Given the description of an element on the screen output the (x, y) to click on. 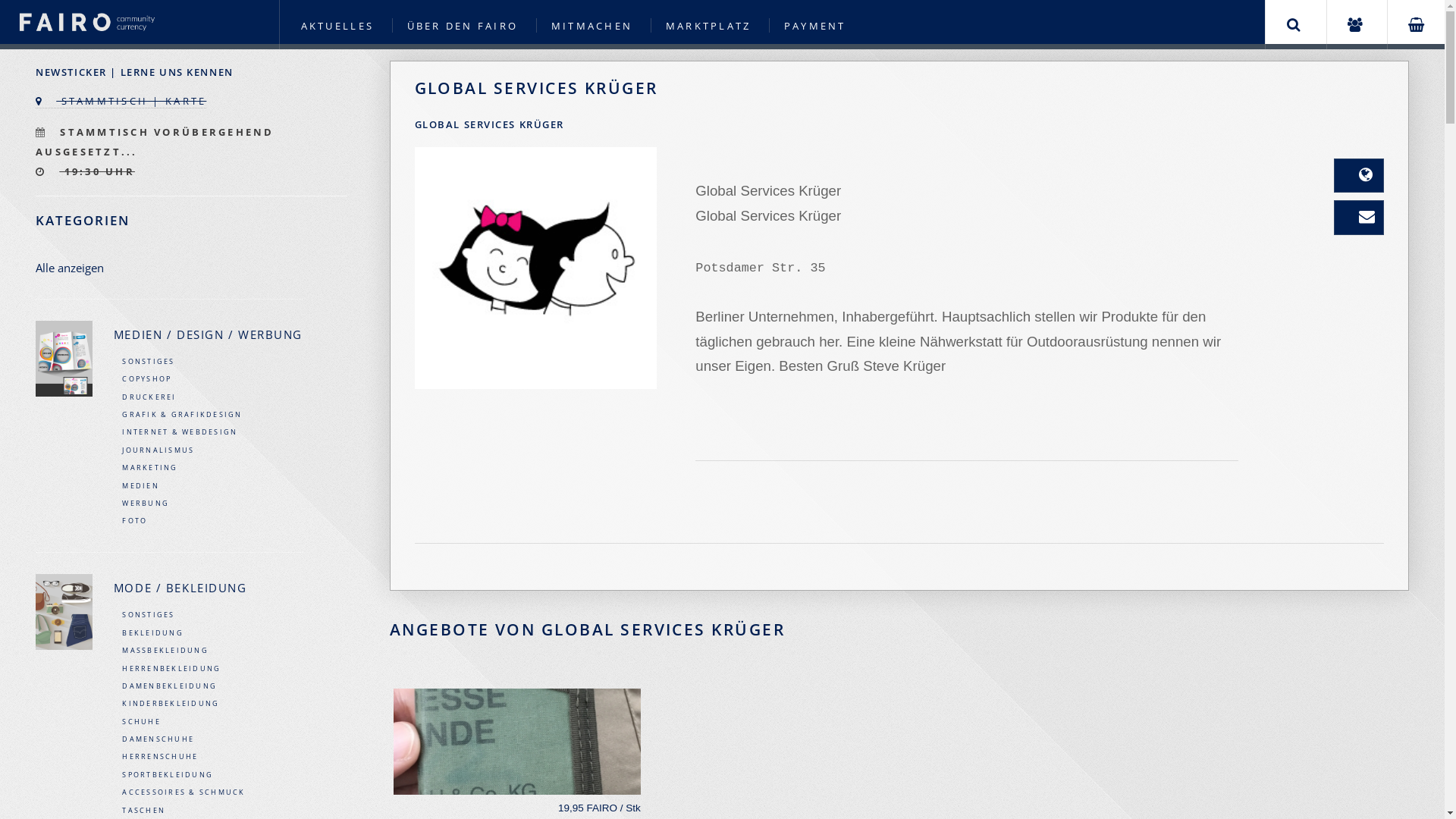
MITMACHEN Element type: text (591, 25)
MODE / BEKLEIDUNG Element type: text (207, 586)
MEDIEN / DESIGN / WERBUNG Element type: text (207, 333)
Suche Element type: text (1293, 24)
PAYMENT Element type: text (815, 25)
Alle anzeigen Element type: text (168, 266)
AKTUELLES Element type: text (337, 25)
STAMMTISCH | KARTE Element type: text (120, 101)
Cart Element type: text (1415, 24)
MARKTPLATZ Element type: text (708, 25)
